Given the description of an element on the screen output the (x, y) to click on. 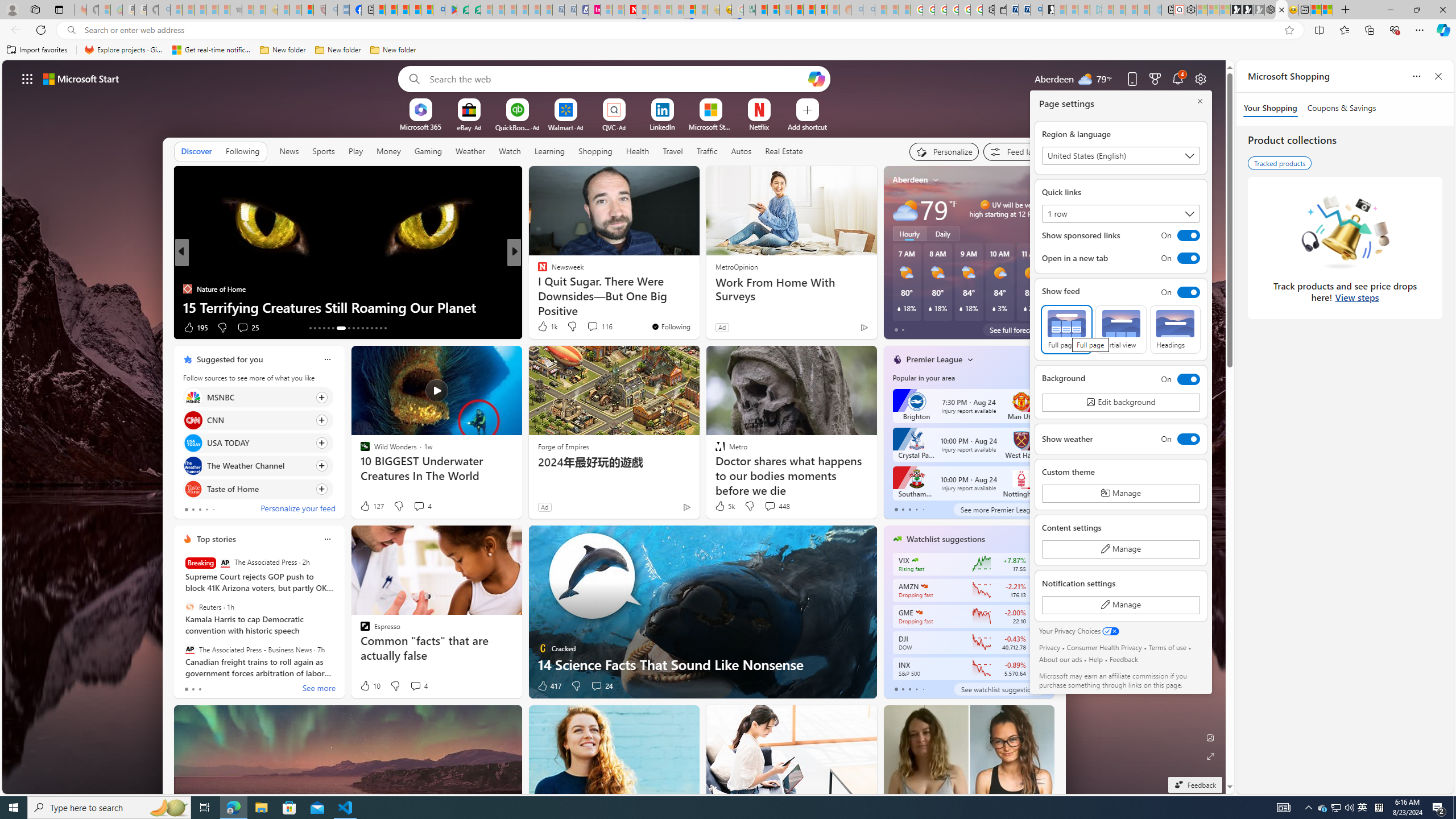
Class: weather-current-precipitation-glyph (1024, 308)
Gaming (428, 151)
Dislike (575, 685)
Travel (672, 151)
14 Common Myths Debunked By Scientific Facts - Sleeping (654, 9)
AutomationID: tab-21 (353, 328)
Full page (1067, 328)
Click to follow source The Weather Channel (257, 465)
My location (936, 179)
